Given the description of an element on the screen output the (x, y) to click on. 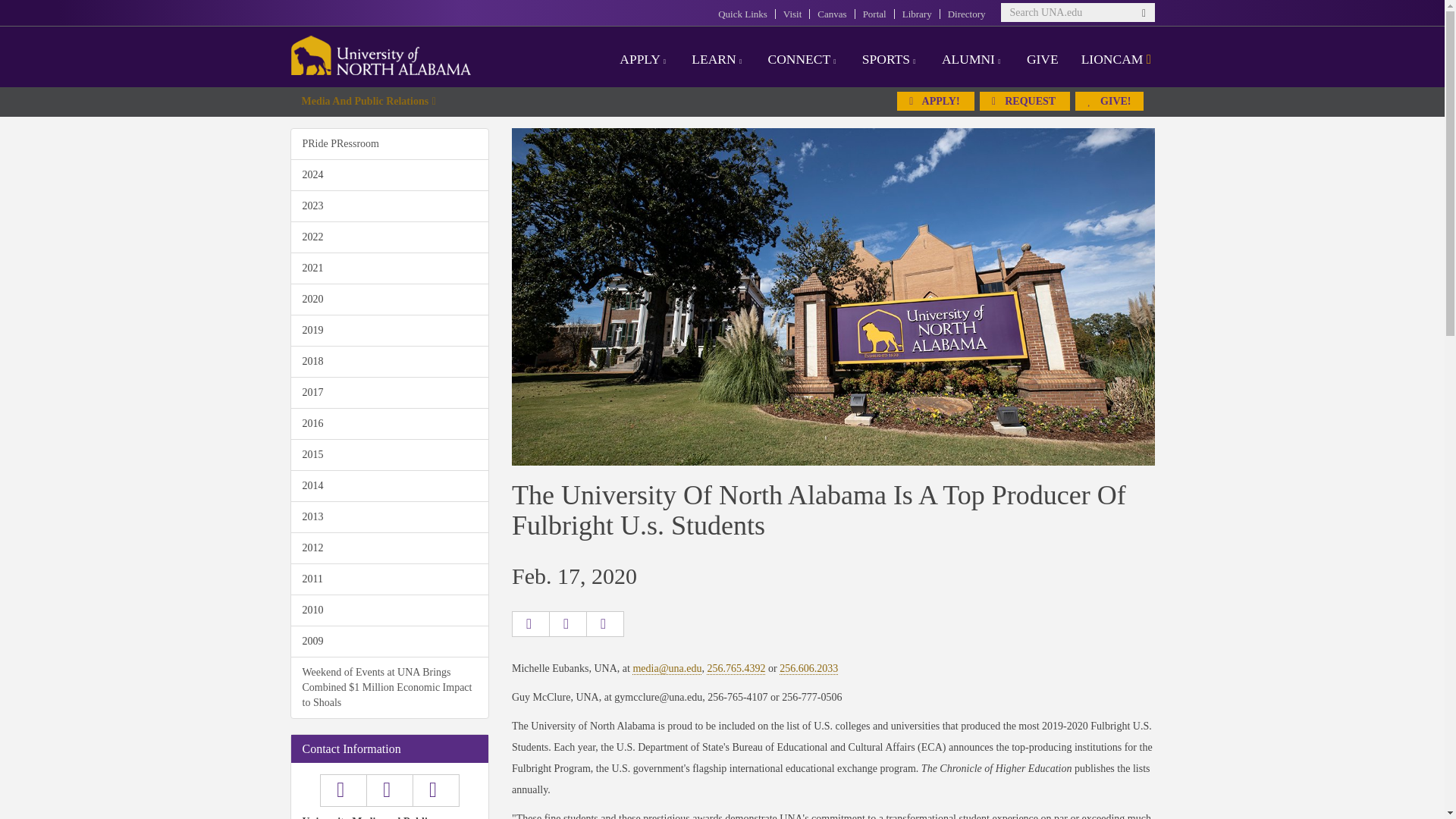
Quick Links (742, 13)
  Go (1145, 20)
Directory (966, 13)
Library (916, 13)
Portal (874, 13)
Search UNA.edu (1077, 12)
Canvas (830, 13)
Visit (792, 13)
University of North Alabama (380, 55)
